Given the description of an element on the screen output the (x, y) to click on. 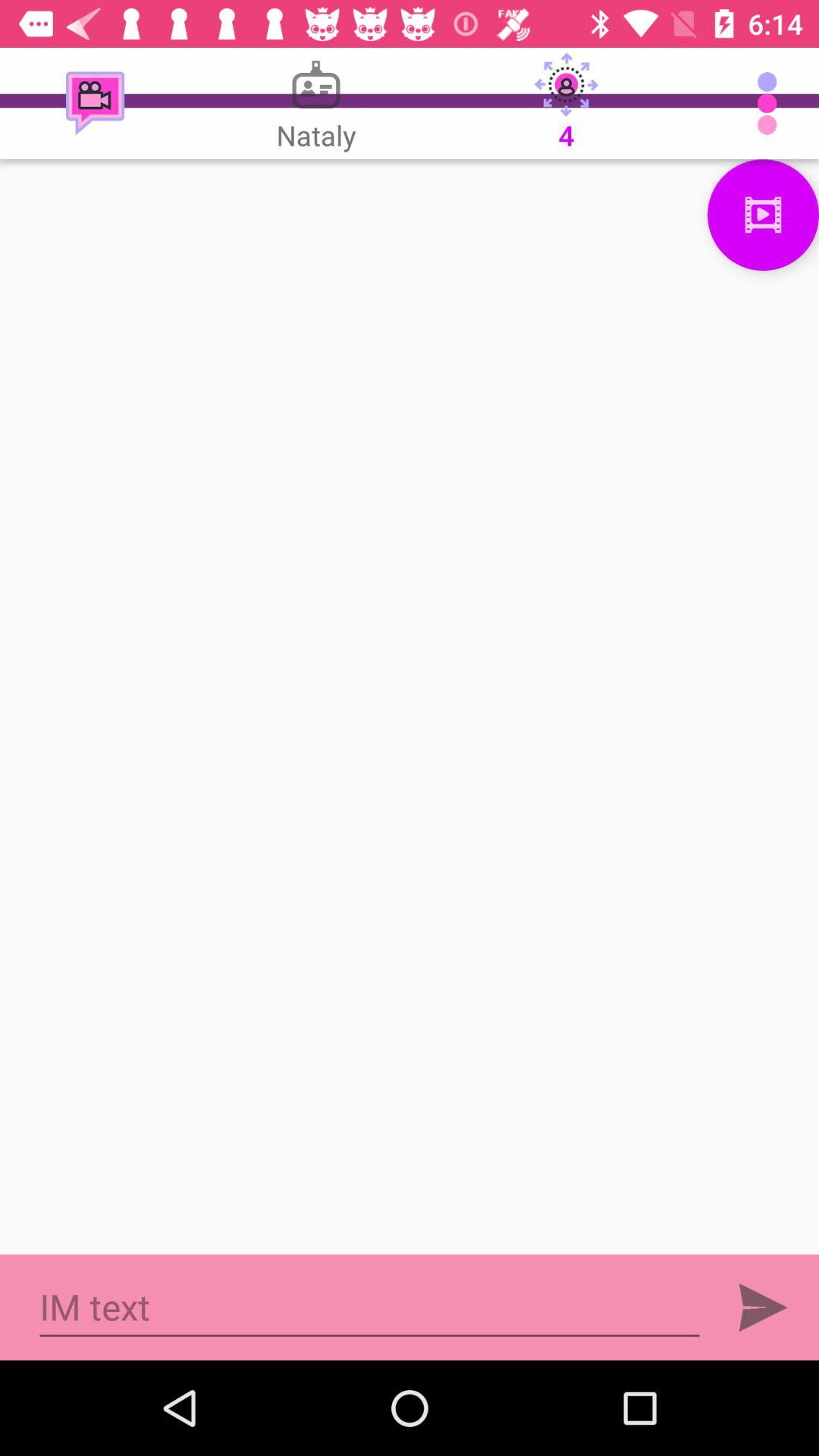
video (763, 214)
